Given the description of an element on the screen output the (x, y) to click on. 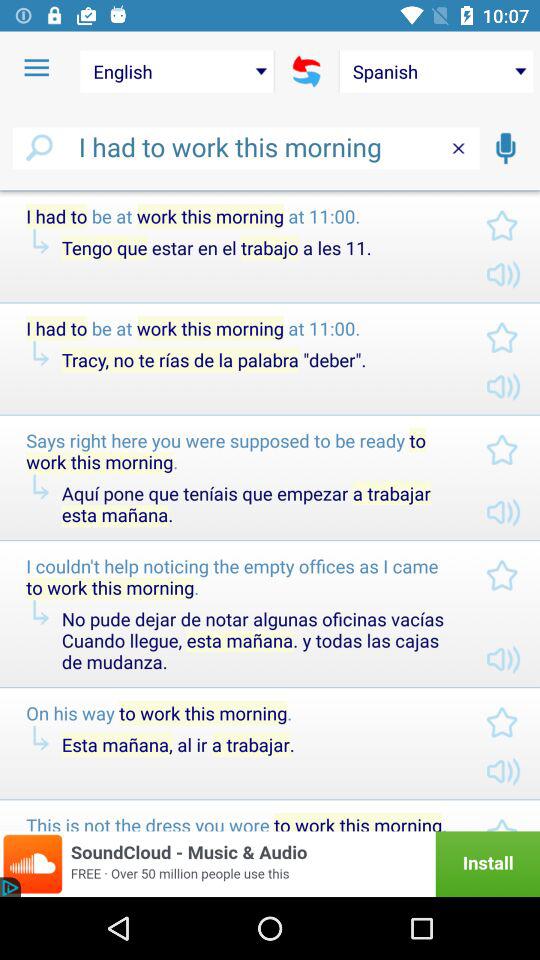
switch translate option (306, 71)
